Given the description of an element on the screen output the (x, y) to click on. 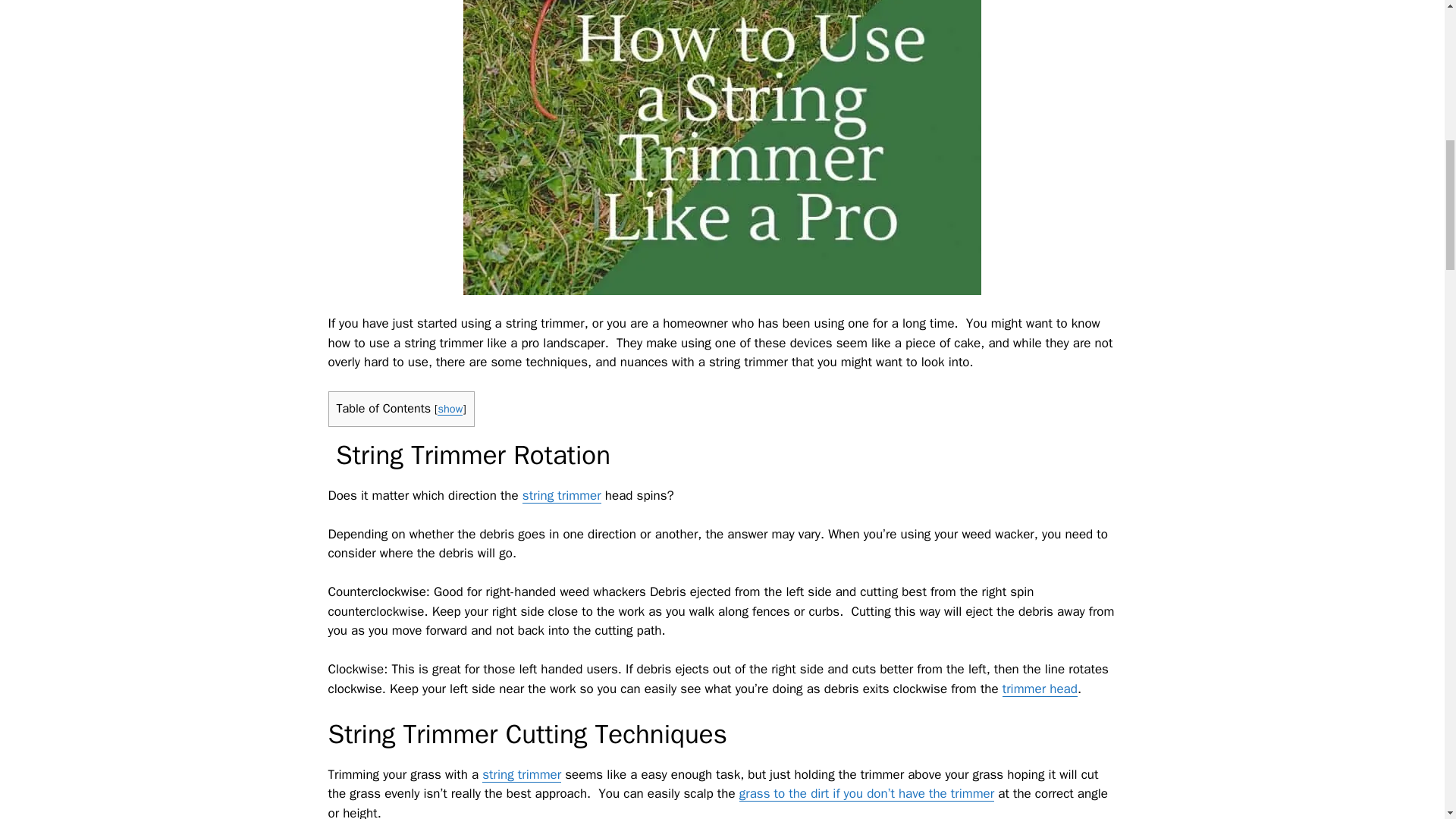
show (450, 408)
trimmer head (1040, 688)
string trimmer (520, 774)
string trimmer (561, 495)
